Given the description of an element on the screen output the (x, y) to click on. 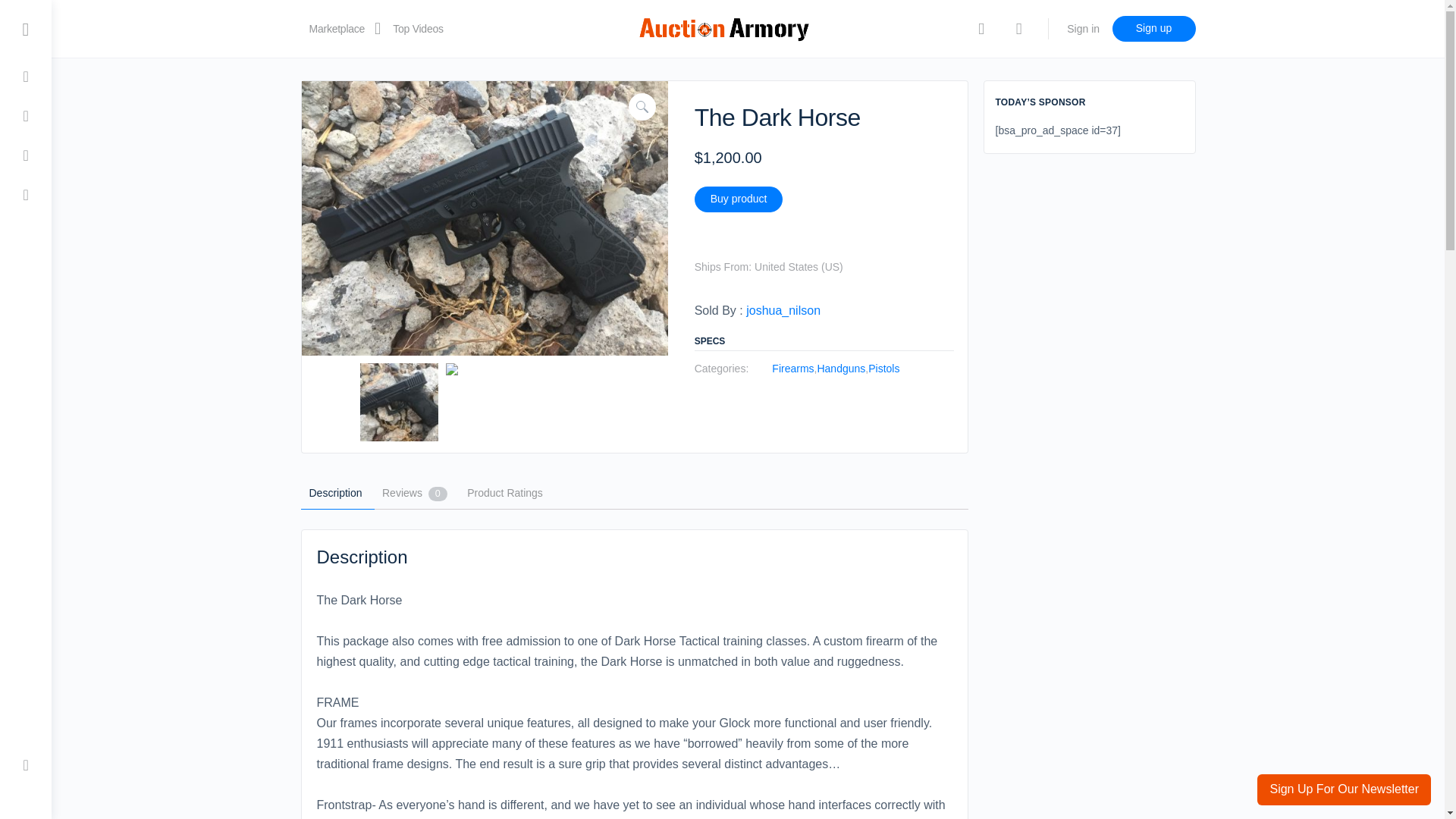
Marketplace (336, 28)
Sign in (1083, 28)
3rd party ad content (721, 785)
Sign up (1153, 28)
